Given the description of an element on the screen output the (x, y) to click on. 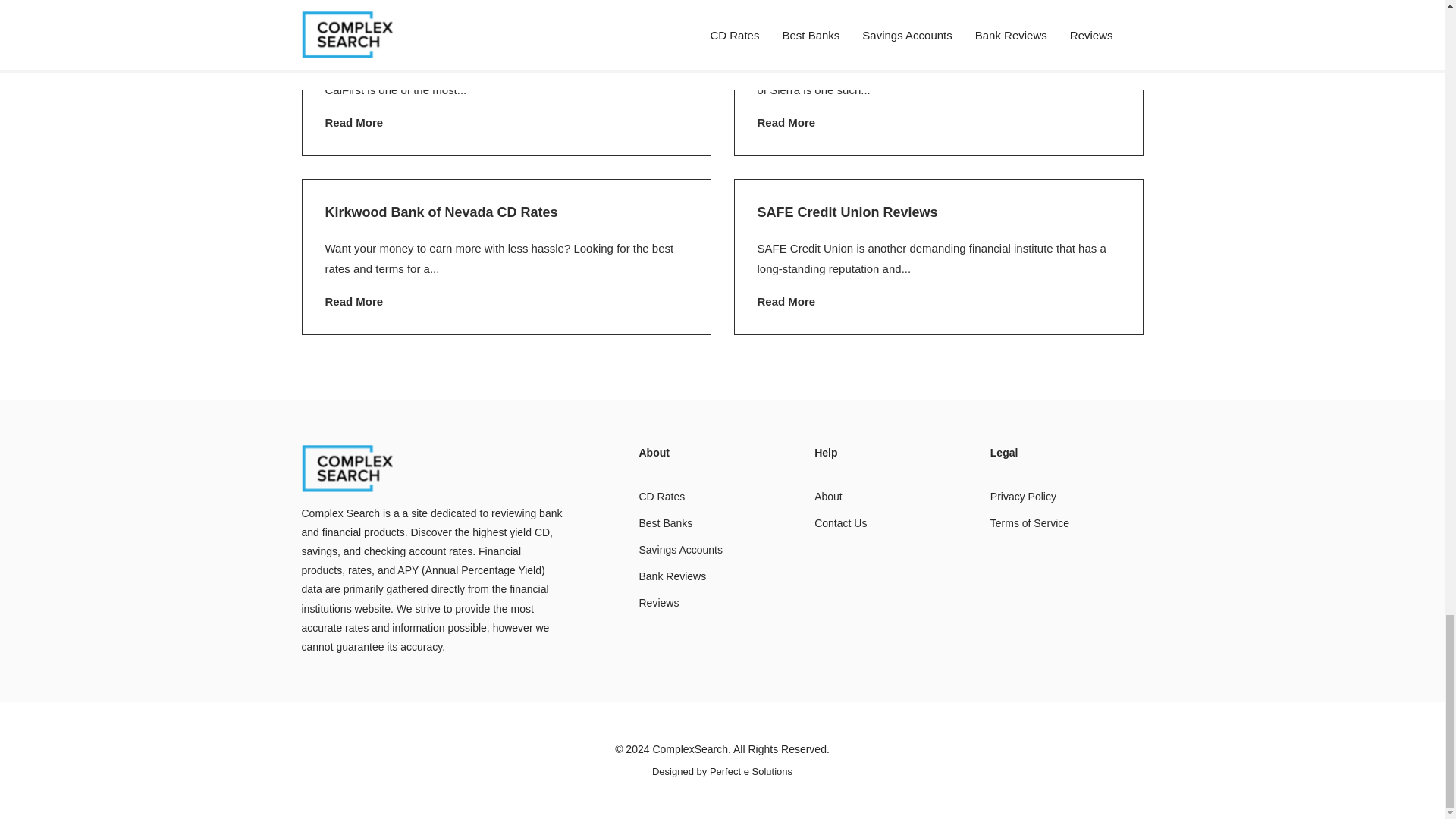
SAFE Credit Union Reviews (847, 212)
Read More (786, 122)
Read More (786, 300)
Read More (353, 300)
Bank of Sierra Review (828, 32)
Savings Accounts (680, 549)
Best Banks (666, 522)
CD Rates (661, 496)
Kirkwood Bank of Nevada CD Rates (440, 212)
Bank Reviews (672, 576)
Read More (353, 122)
California First National Bank Review (445, 32)
